Given the description of an element on the screen output the (x, y) to click on. 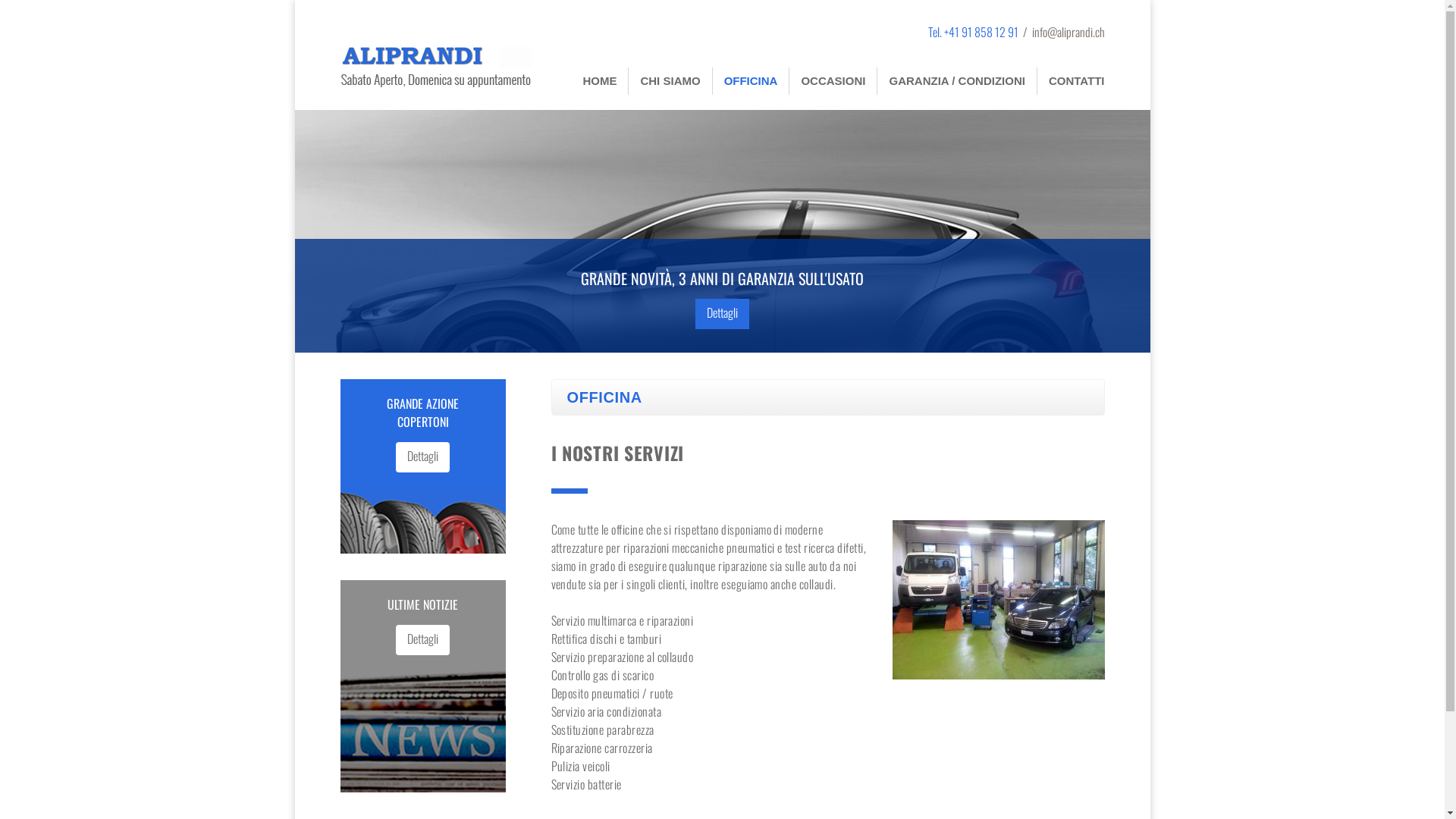
Dettagli Element type: text (422, 639)
Dettagli Element type: text (422, 457)
GARANZIA / CONDIZIONI Element type: text (956, 80)
info@aliprandi.ch Element type: text (1067, 31)
Dettagli Element type: text (722, 313)
CONTATTI Element type: text (1076, 80)
OCCASIONI Element type: text (832, 80)
CHI SIAMO Element type: text (669, 80)
OFFICINA Element type: text (751, 80)
HOME Element type: text (599, 80)
